Given the description of an element on the screen output the (x, y) to click on. 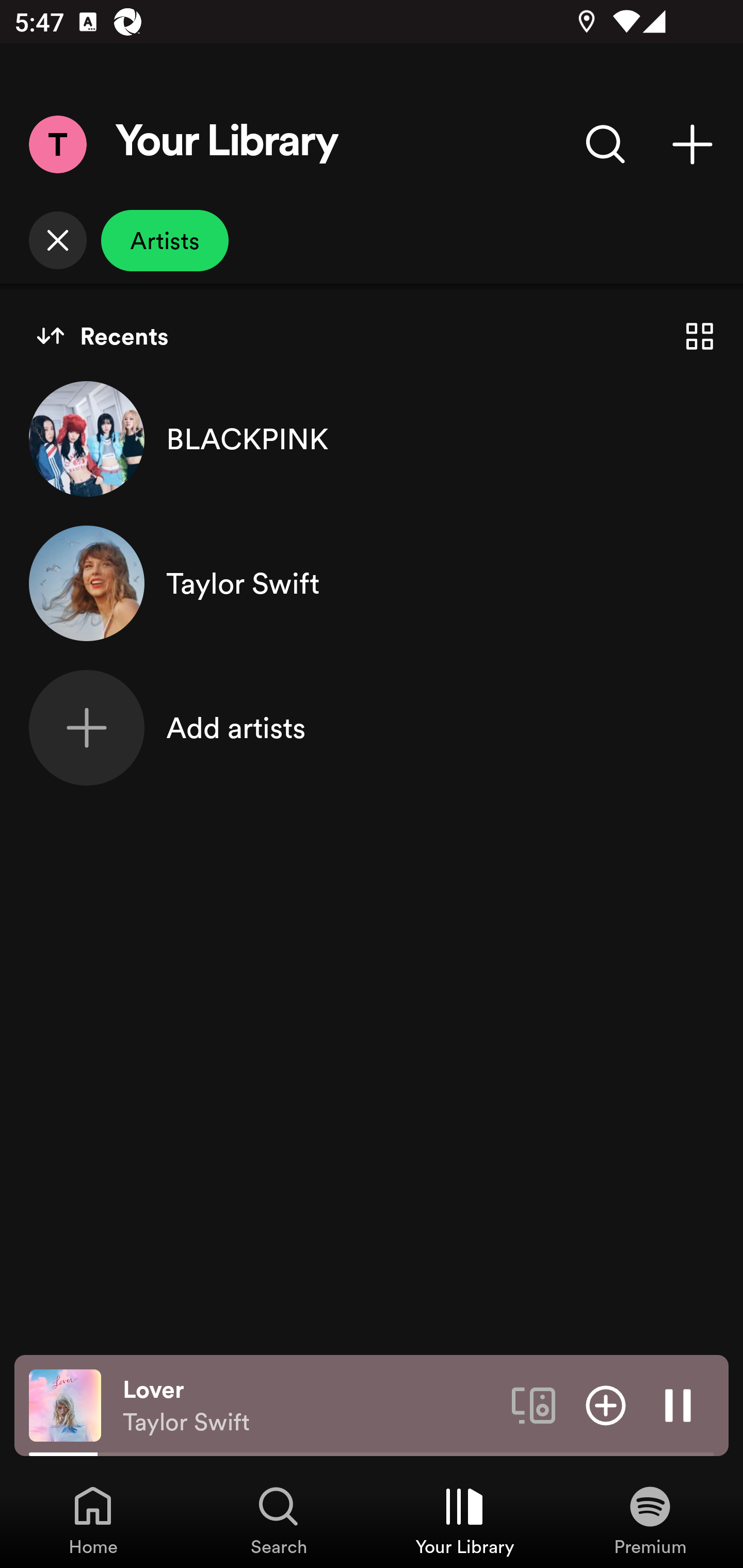
Menu (57, 144)
Search Your Library (605, 144)
Create playlist (692, 144)
Your Library Your Library Heading (226, 144)
Clear Filters (57, 240)
Artists, show only artists. (164, 240)
Recents (101, 336)
Show Grid view (699, 336)
BLACKPINK,  BLACKPINK (371, 439)
Taylor Swift,  Taylor Swift (371, 583)
Add artists,  Add artists (371, 727)
Lover Taylor Swift (309, 1405)
The cover art of the currently playing track (64, 1404)
Connect to a device. Opens the devices menu (533, 1404)
Add item (605, 1404)
Pause (677, 1404)
Home, Tab 1 of 4 Home Home (92, 1519)
Search, Tab 2 of 4 Search Search (278, 1519)
Your Library, Tab 3 of 4 Your Library Your Library (464, 1519)
Premium, Tab 4 of 4 Premium Premium (650, 1519)
